Given the description of an element on the screen output the (x, y) to click on. 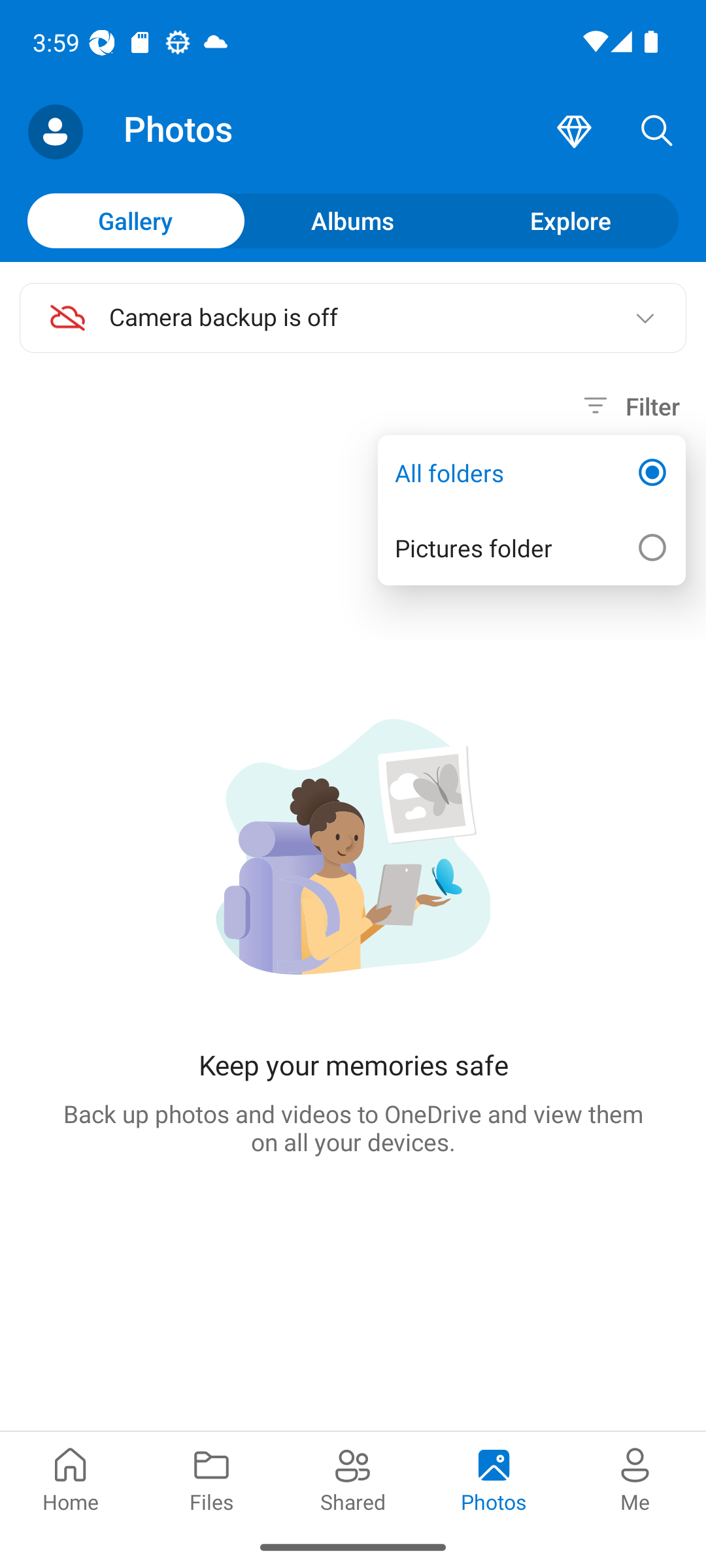
All folders (531, 472)
Pictures folder (531, 546)
